Given the description of an element on the screen output the (x, y) to click on. 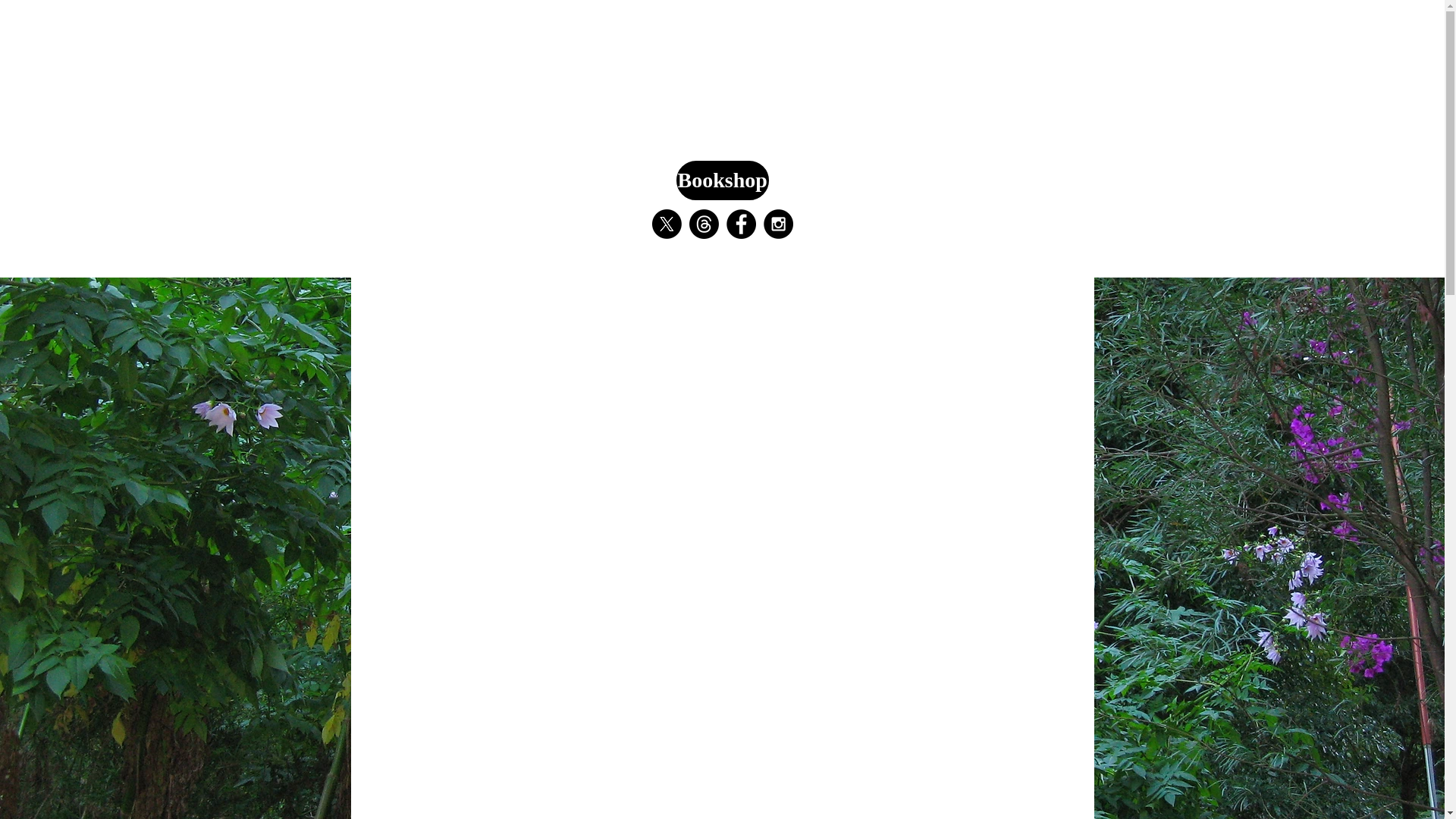
Bookshop (722, 179)
